Given the description of an element on the screen output the (x, y) to click on. 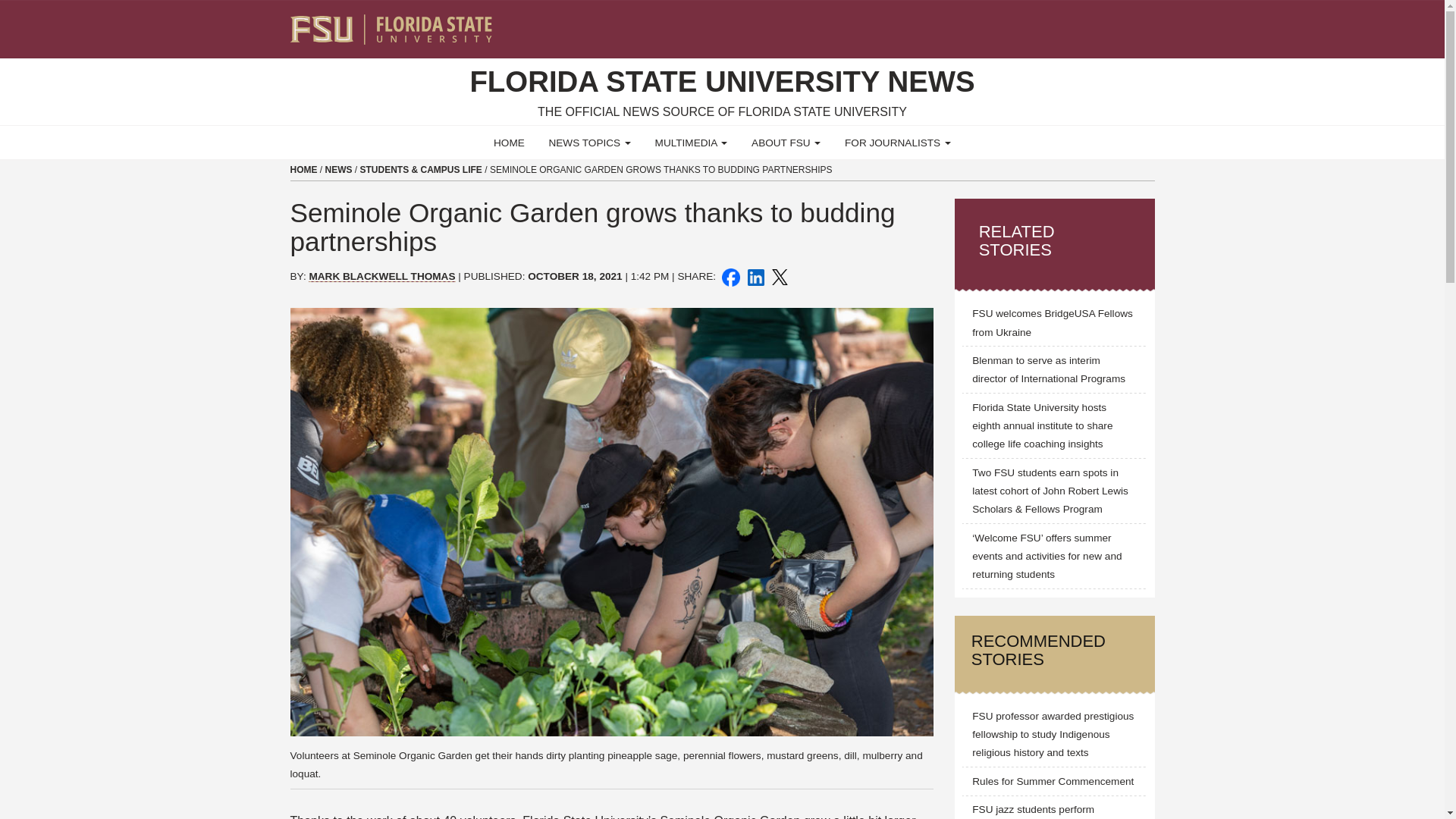
FSU Webmail (1112, 23)
Navigation (1152, 23)
Skip to content (5, 5)
